Given the description of an element on the screen output the (x, y) to click on. 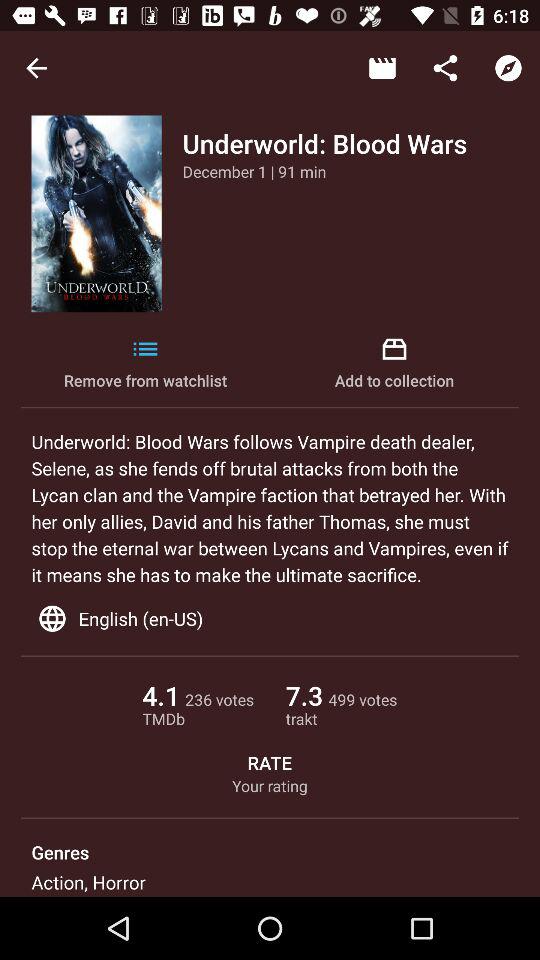
scroll until the december 1 91 item (254, 171)
